Given the description of an element on the screen output the (x, y) to click on. 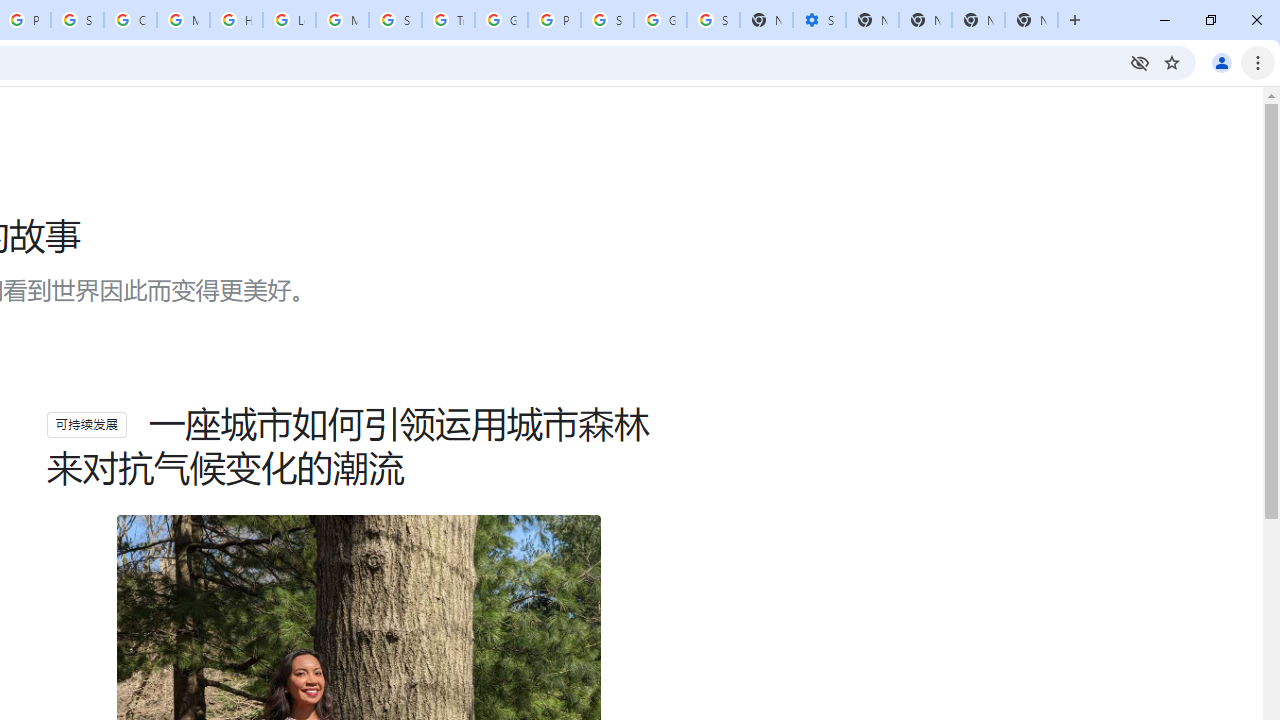
Sign in - Google Accounts (77, 20)
Settings - Performance (819, 20)
New Tab (1031, 20)
